Given the description of an element on the screen output the (x, y) to click on. 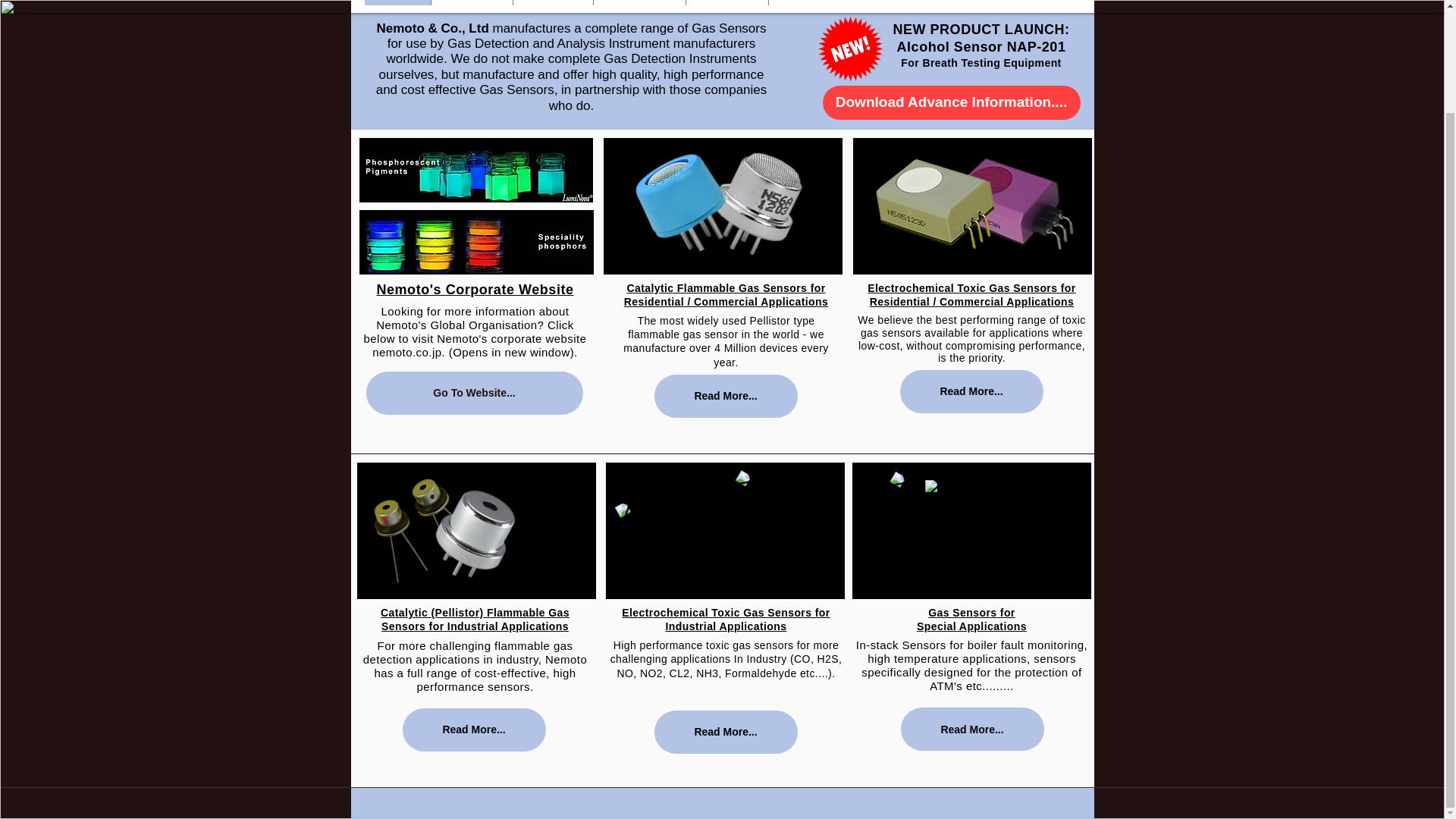
Newsreel (726, 2)
Home (396, 2)
Read More... (970, 391)
Products (552, 2)
Download Advance Information.... (951, 102)
Read More... (472, 729)
Read More... (724, 395)
About Us (471, 2)
Contact (805, 2)
Go To Website... (473, 392)
Datasheets (638, 2)
Read More... (972, 729)
Read More... (724, 731)
